Given the description of an element on the screen output the (x, y) to click on. 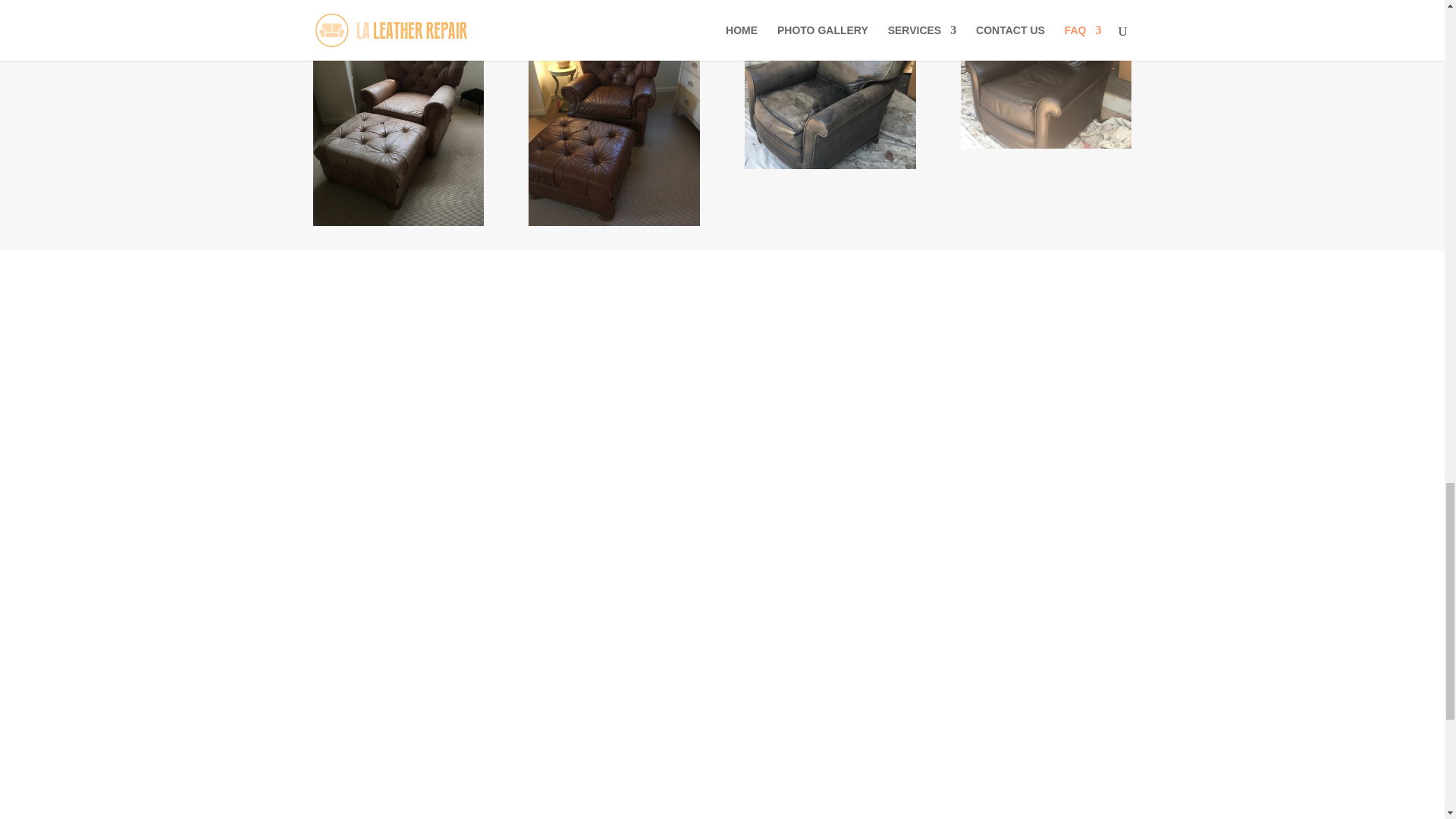
chair-after (613, 222)
chair-before (398, 222)
